Given the description of an element on the screen output the (x, y) to click on. 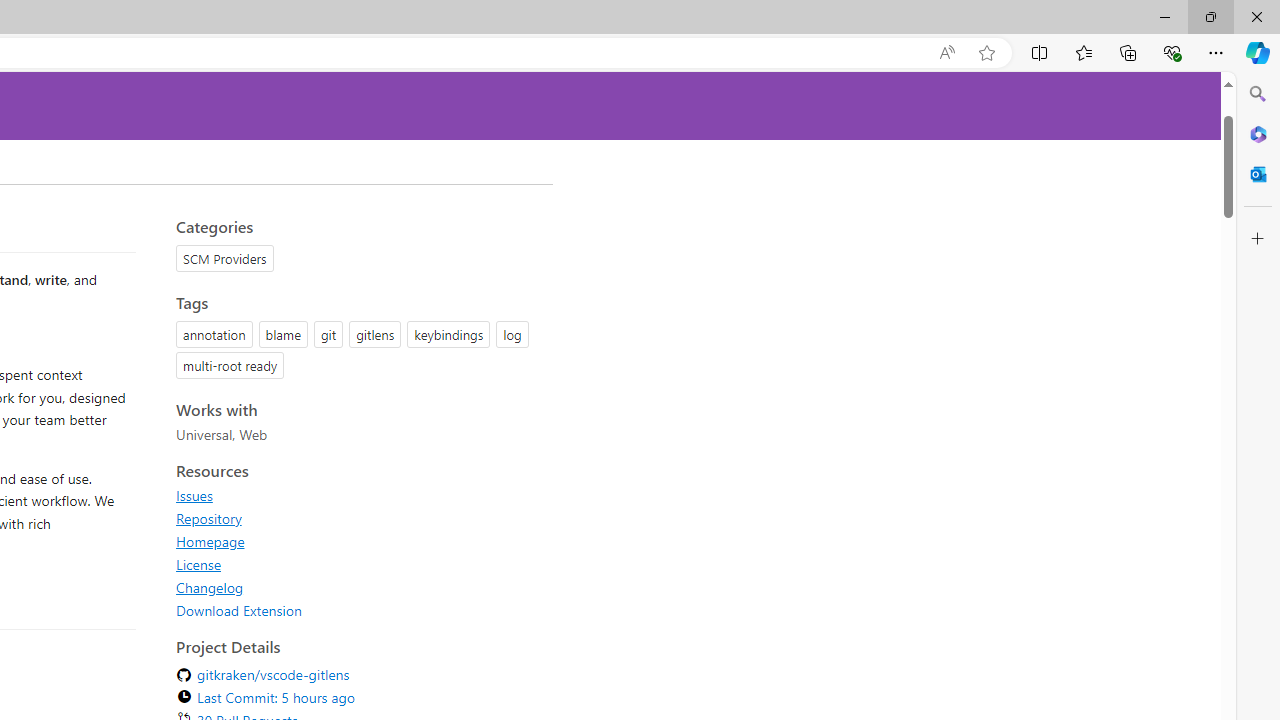
Repository (358, 518)
Issues (194, 495)
License (198, 564)
